Given the description of an element on the screen output the (x, y) to click on. 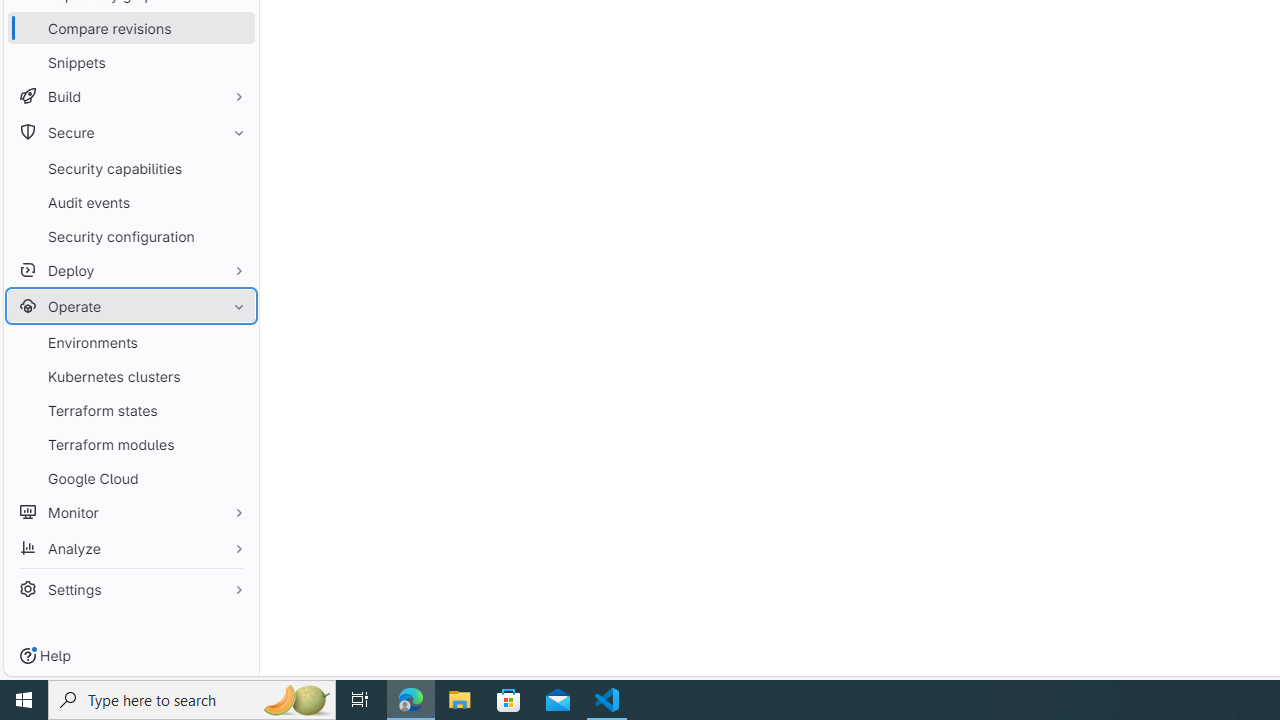
Environments (130, 342)
Pin Security configuration (234, 236)
Build (130, 96)
Environments (130, 342)
Analyze (130, 548)
Monitor (130, 512)
Google Cloud (130, 478)
Terraform modules (130, 443)
Audit events (130, 201)
Pin Snippets (234, 61)
Deploy (130, 270)
Analyze (130, 548)
Security configuration (130, 236)
Compare revisions (130, 28)
